Given the description of an element on the screen output the (x, y) to click on. 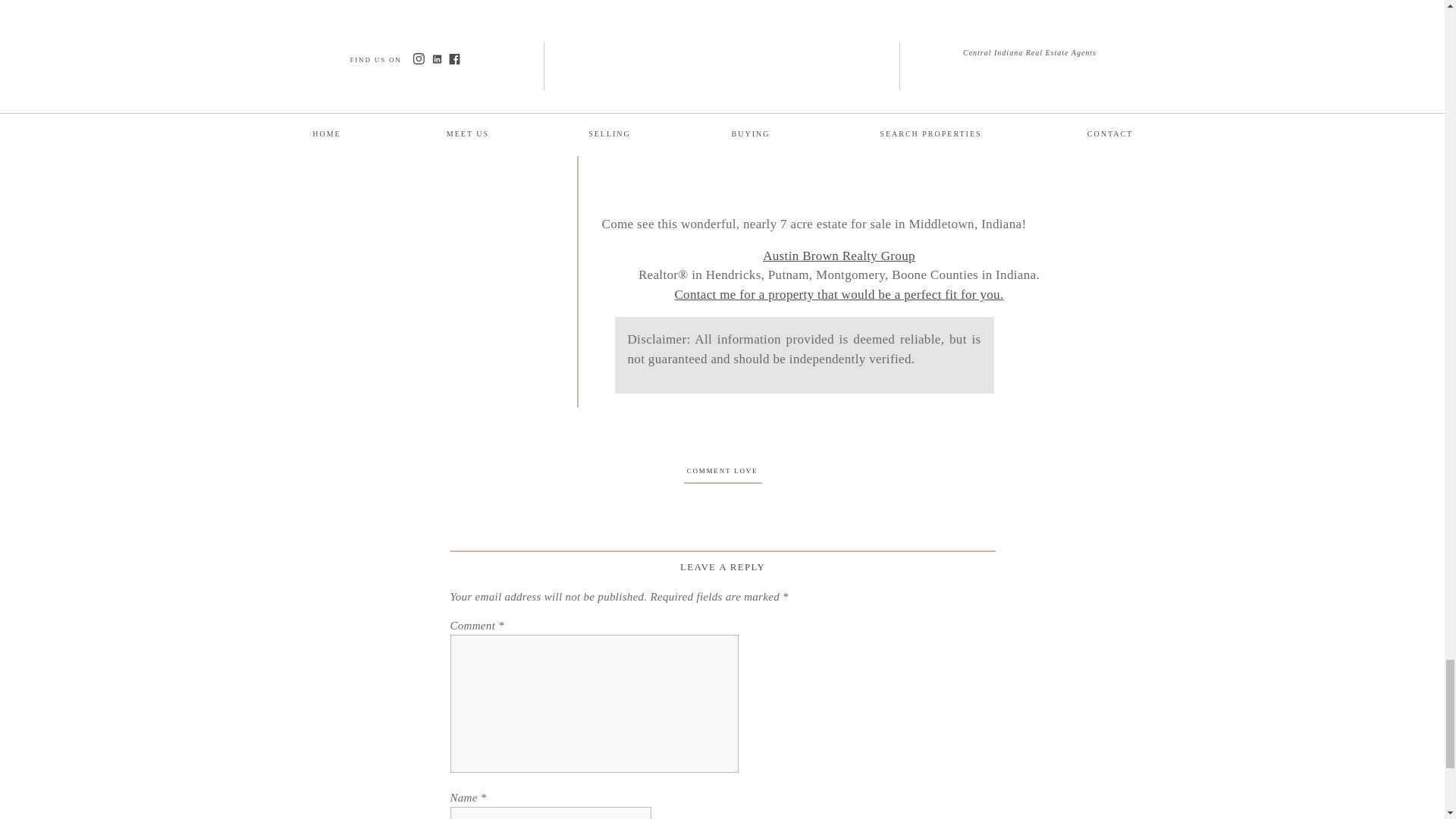
COMMENT LOVE (722, 470)
Austin Brown Realty Group (838, 255)
